Given the description of an element on the screen output the (x, y) to click on. 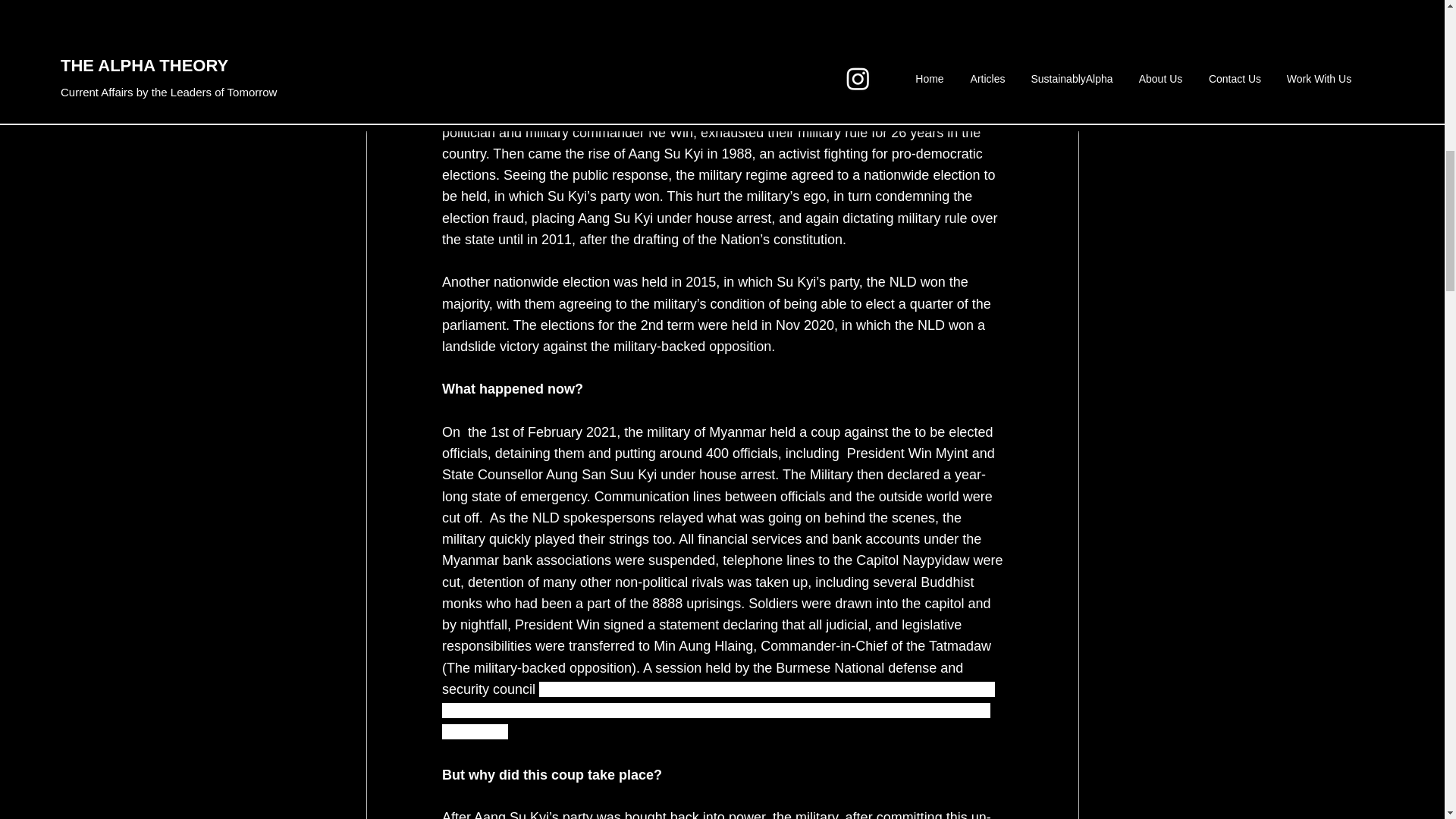
Min Aung Hlaing (702, 645)
Commander-in-Chief of the Tatmadaw (875, 645)
Aung San Suu Kyi (601, 474)
Win Myint (937, 453)
State Counsellor (491, 474)
President (874, 453)
